Given the description of an element on the screen output the (x, y) to click on. 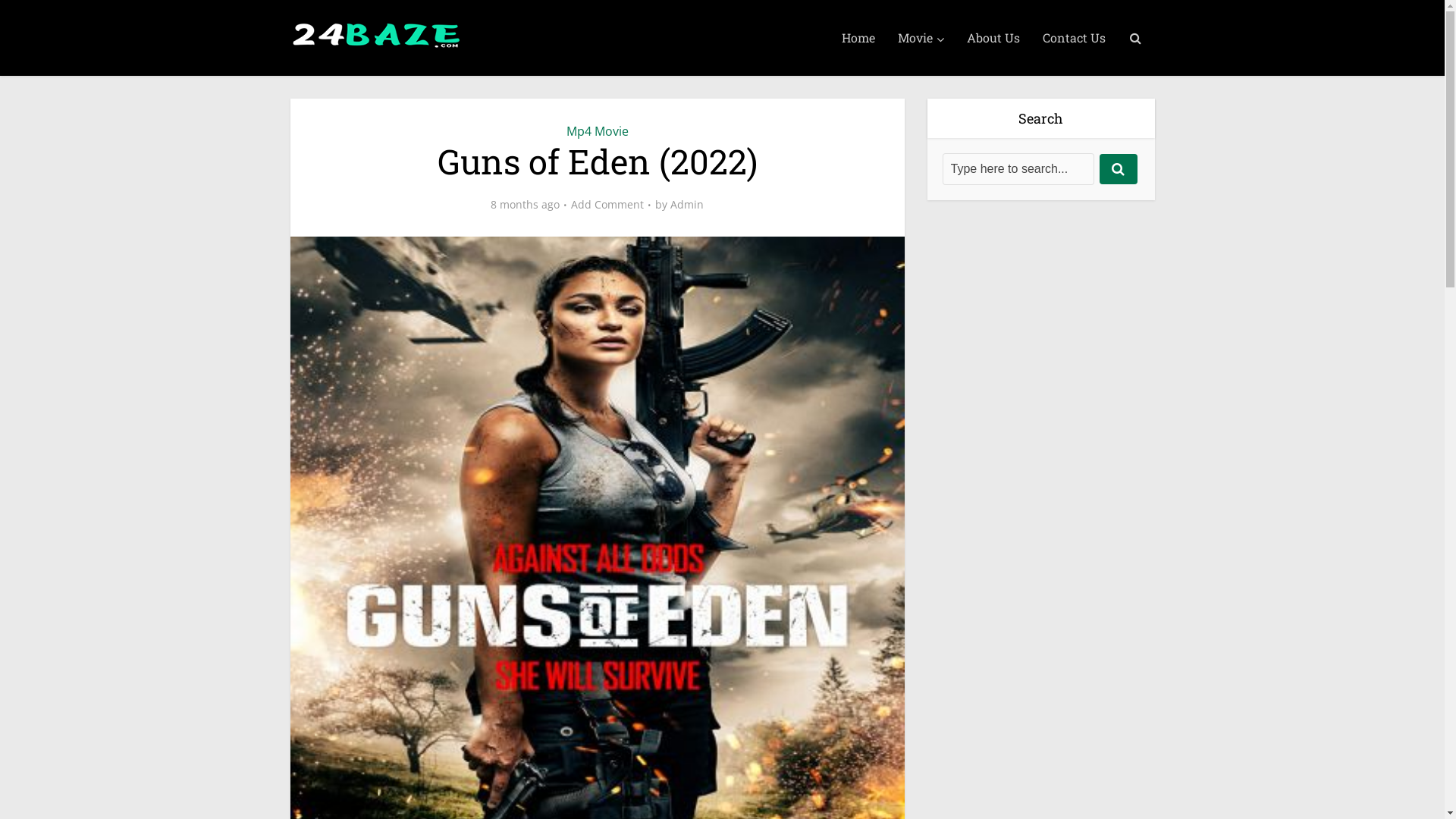
Admin Element type: text (686, 204)
Add Comment Element type: text (607, 204)
Home Element type: text (857, 37)
Movie Element type: text (919, 37)
About Us Element type: text (993, 37)
Mp4 Movie Element type: text (596, 130)
Contact Us Element type: text (1074, 37)
